Given the description of an element on the screen output the (x, y) to click on. 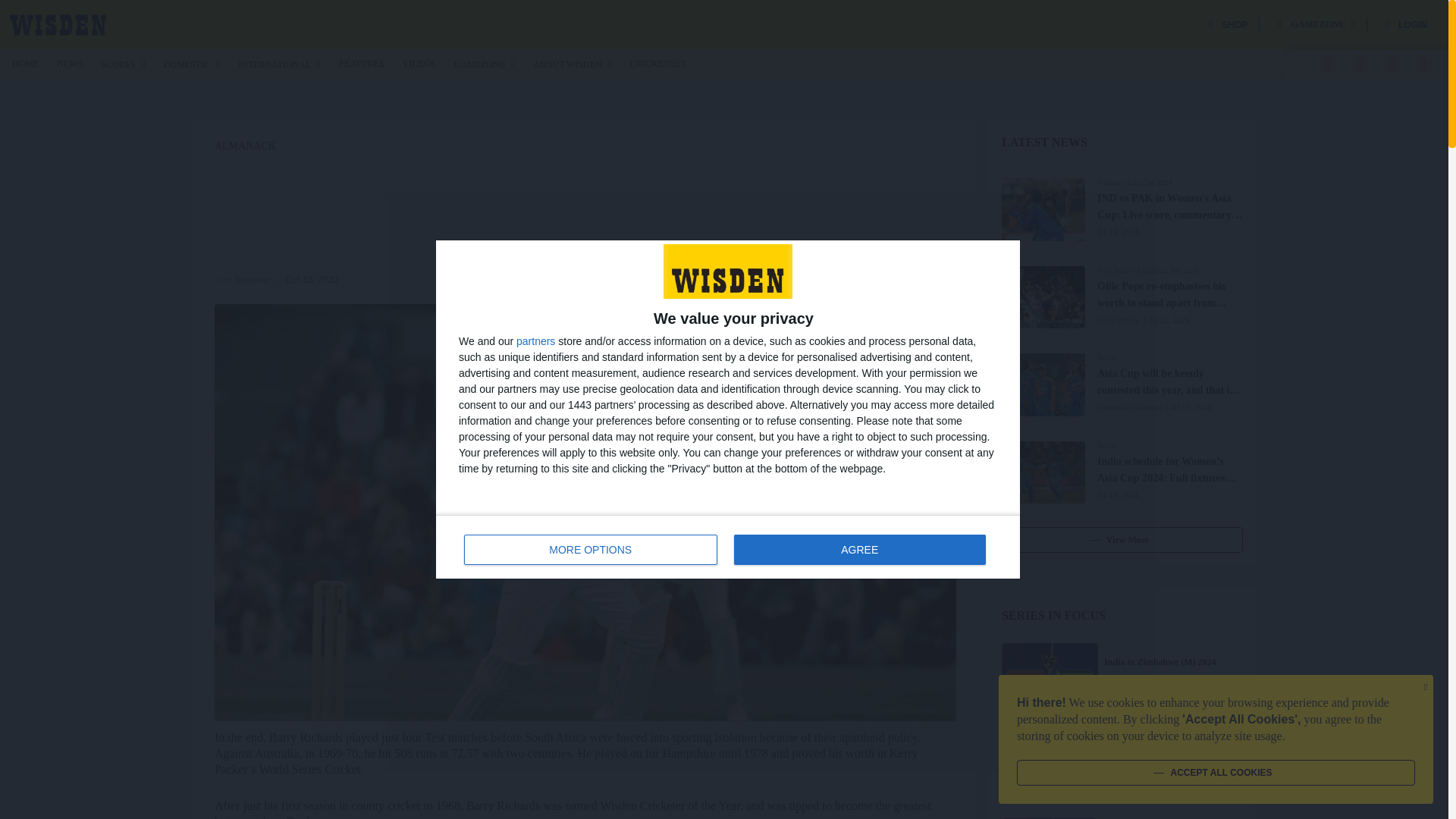
wisden-logo (57, 24)
CRICKETBET (657, 62)
GAMEZONE (484, 63)
partners (535, 340)
LOGIN (1406, 24)
ABOUT WISDEN (571, 63)
HOME (25, 62)
SCORES (122, 63)
Shop (1227, 24)
MORE OPTIONS (590, 549)
FEATURES (361, 62)
DOMESTIC (191, 63)
Wisden (57, 24)
GAMEZONE (1316, 24)
SHOP (1227, 24)
